Given the description of an element on the screen output the (x, y) to click on. 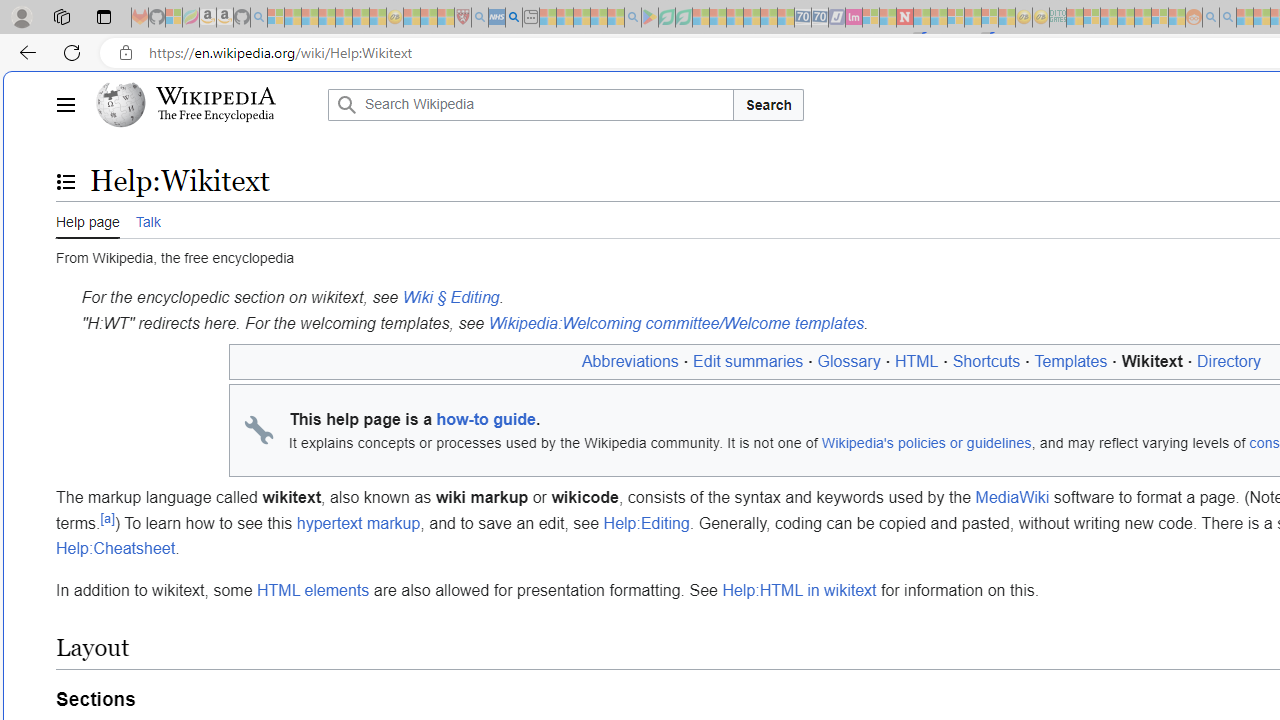
Help:Cheatsheet (116, 549)
Kinda Frugal - MSN - Sleeping (1142, 17)
Latest Politics News & Archive | Newsweek.com - Sleeping (904, 17)
New Report Confirms 2023 Was Record Hot | Watch - Sleeping (343, 17)
Abbreviations (629, 361)
utah sues federal government - Search (513, 17)
HTML (916, 361)
Edit summaries (747, 361)
